Given the description of an element on the screen output the (x, y) to click on. 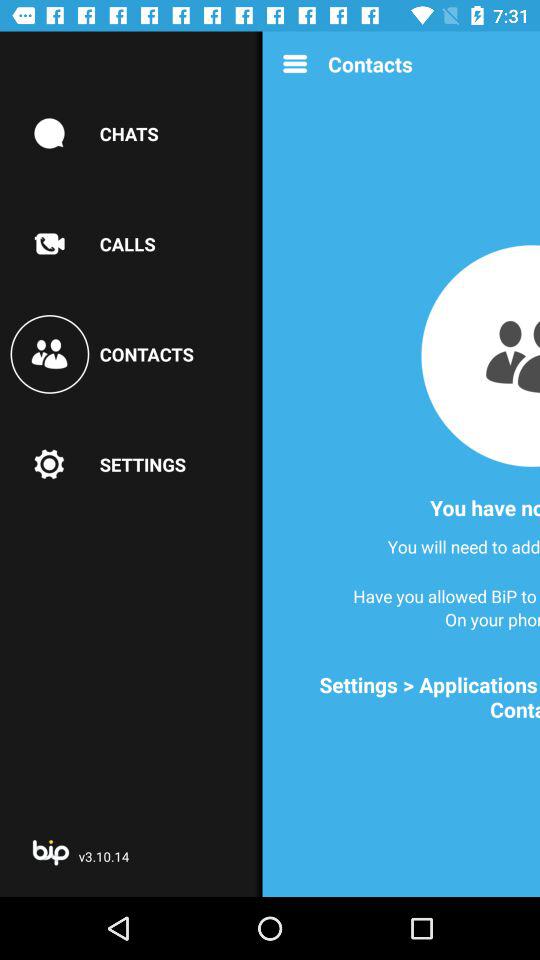
swipe until settings applications bip item (407, 697)
